Given the description of an element on the screen output the (x, y) to click on. 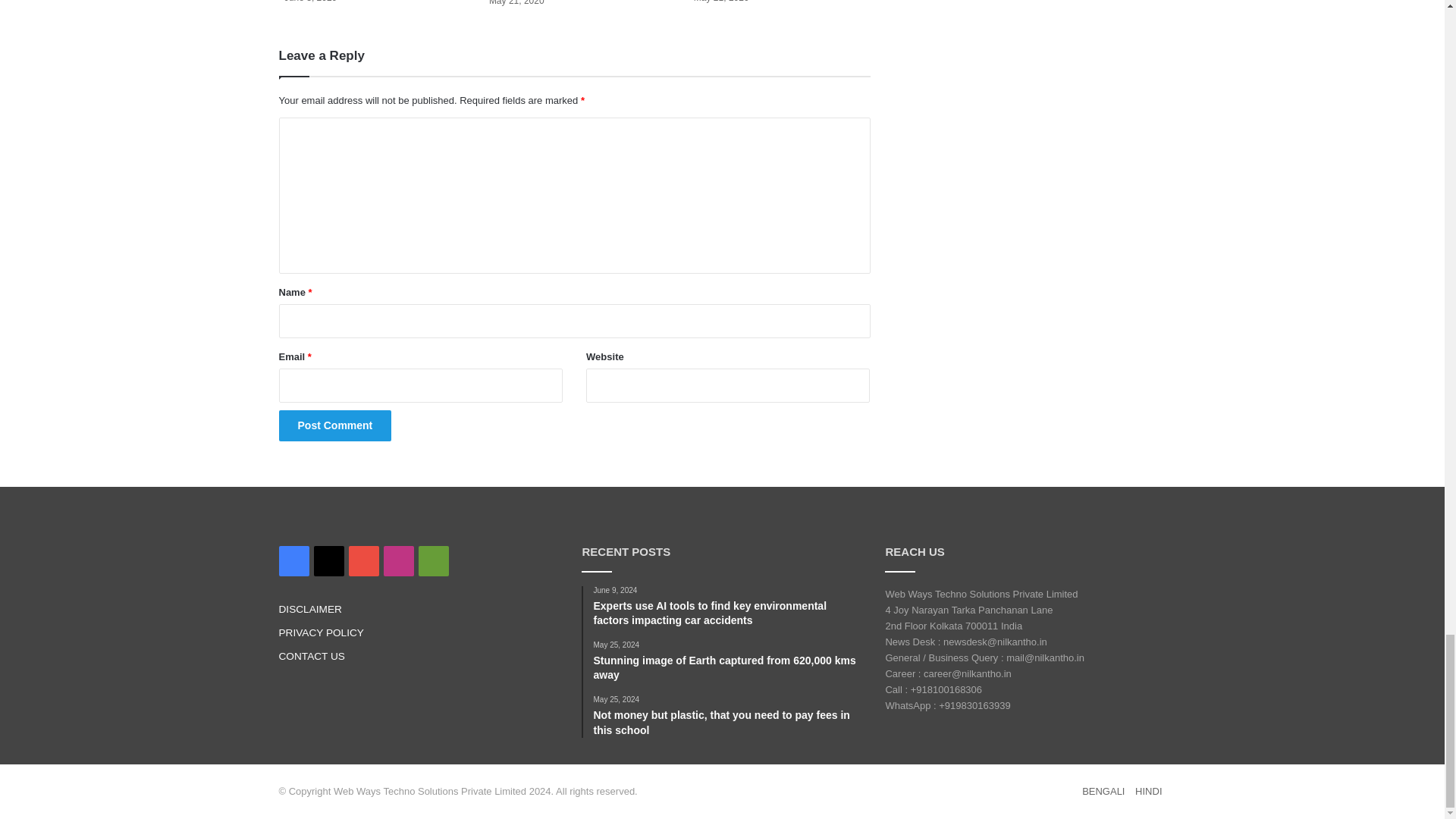
Post Comment (335, 425)
